Given the description of an element on the screen output the (x, y) to click on. 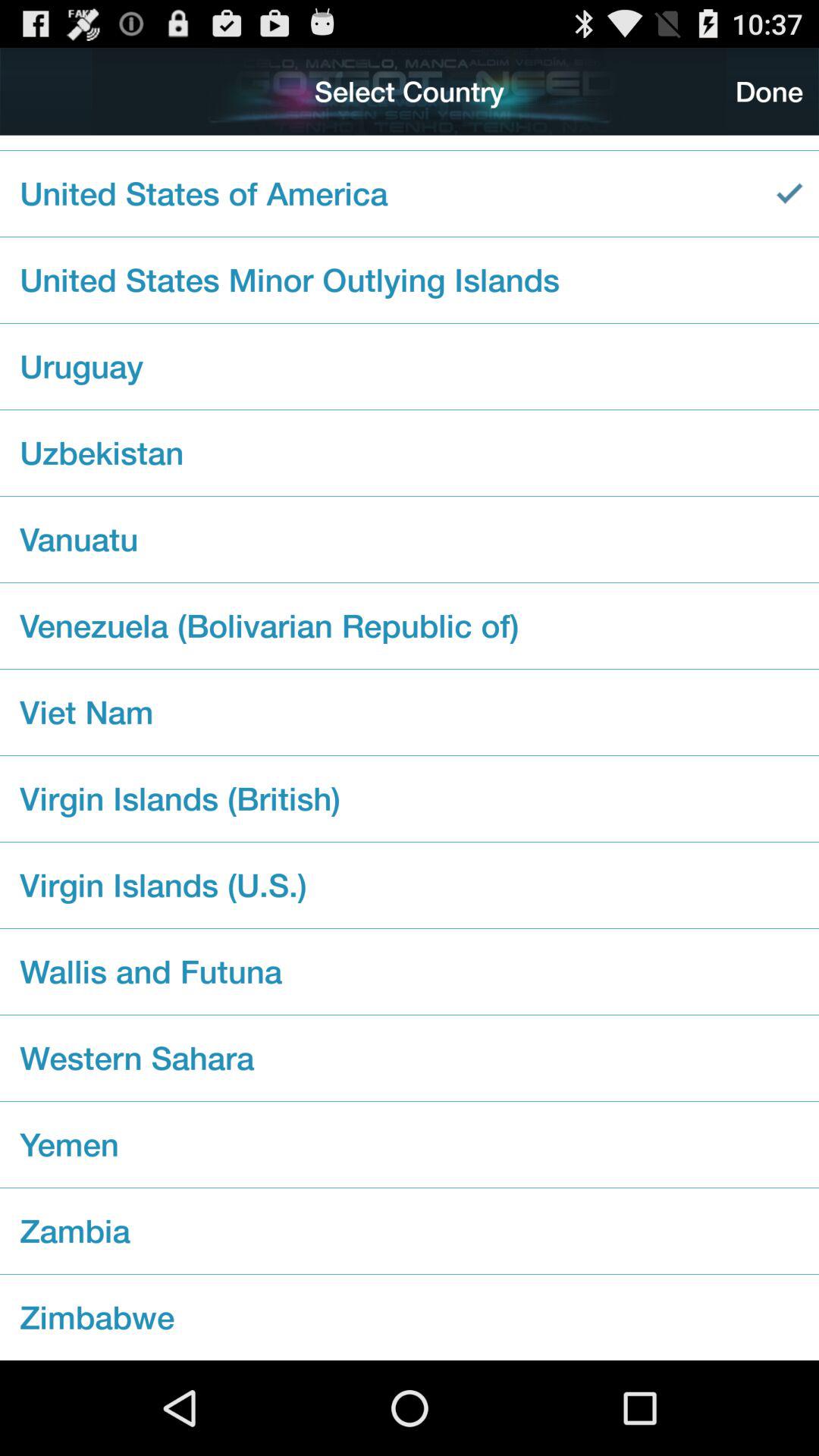
click the checkbox below zambia checkbox (409, 1317)
